Given the description of an element on the screen output the (x, y) to click on. 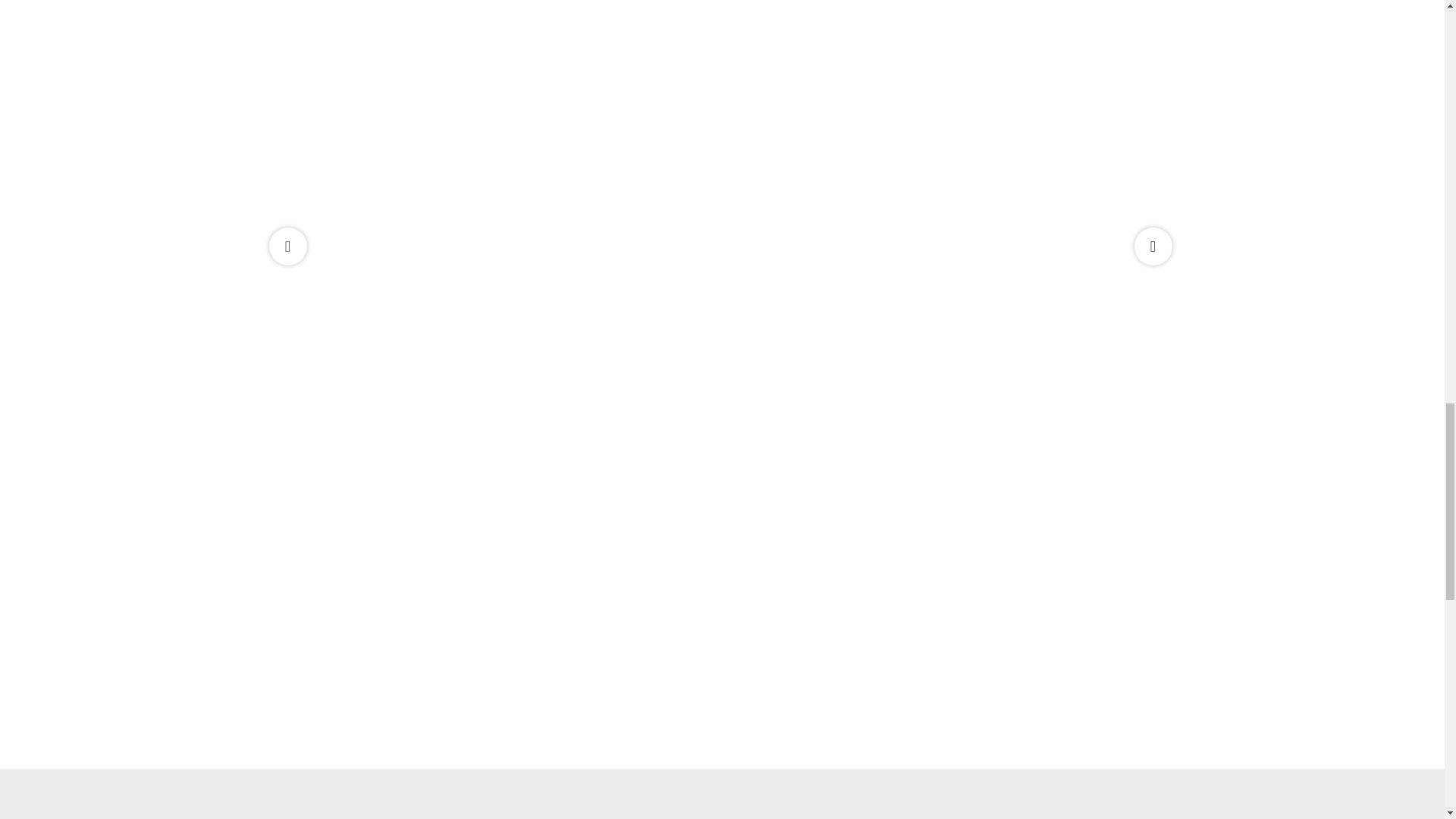
Previous (286, 246)
Next (1153, 246)
